Given the description of an element on the screen output the (x, y) to click on. 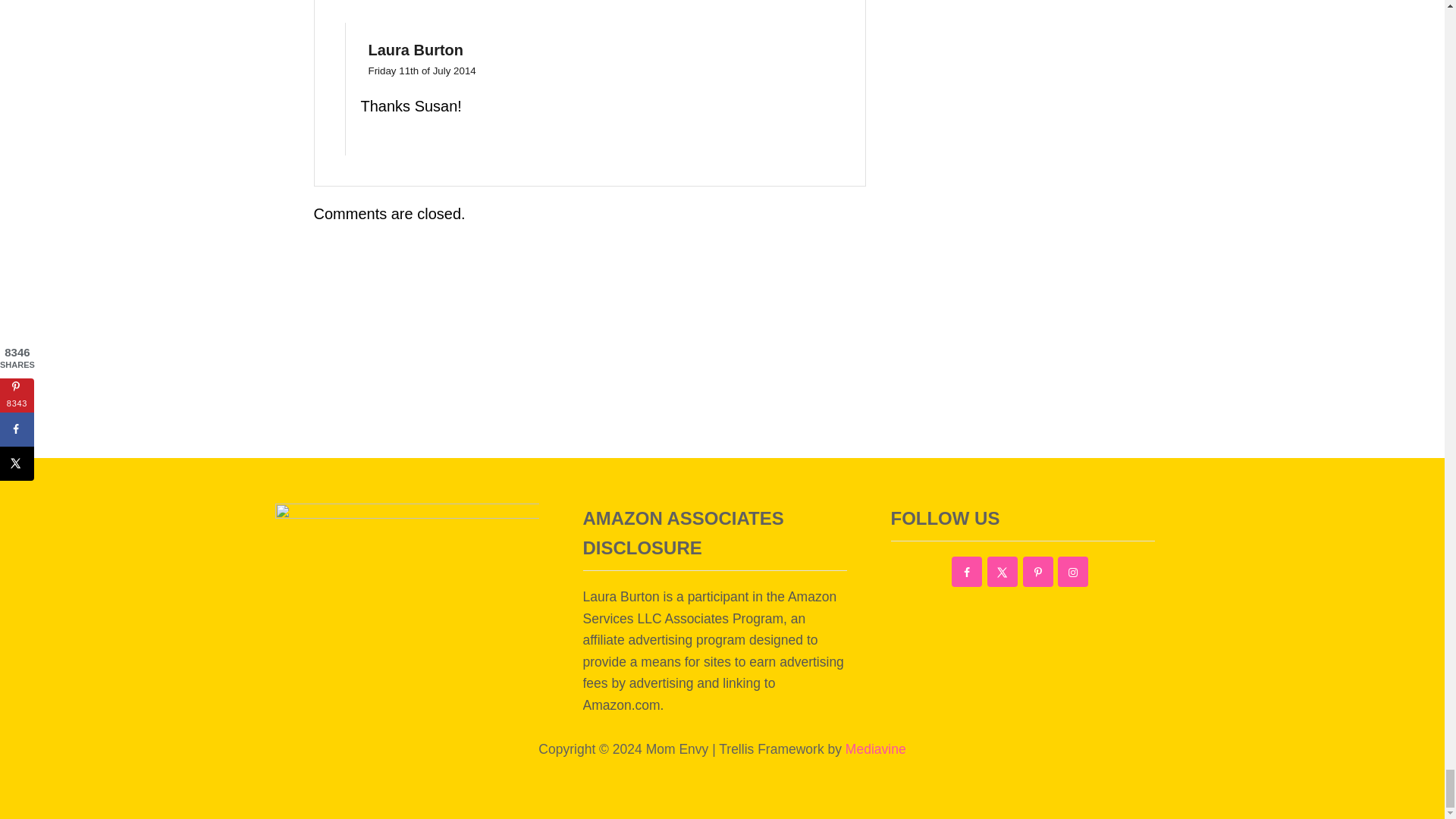
Follow on Facebook (966, 571)
Follow on X (1002, 571)
